Given the description of an element on the screen output the (x, y) to click on. 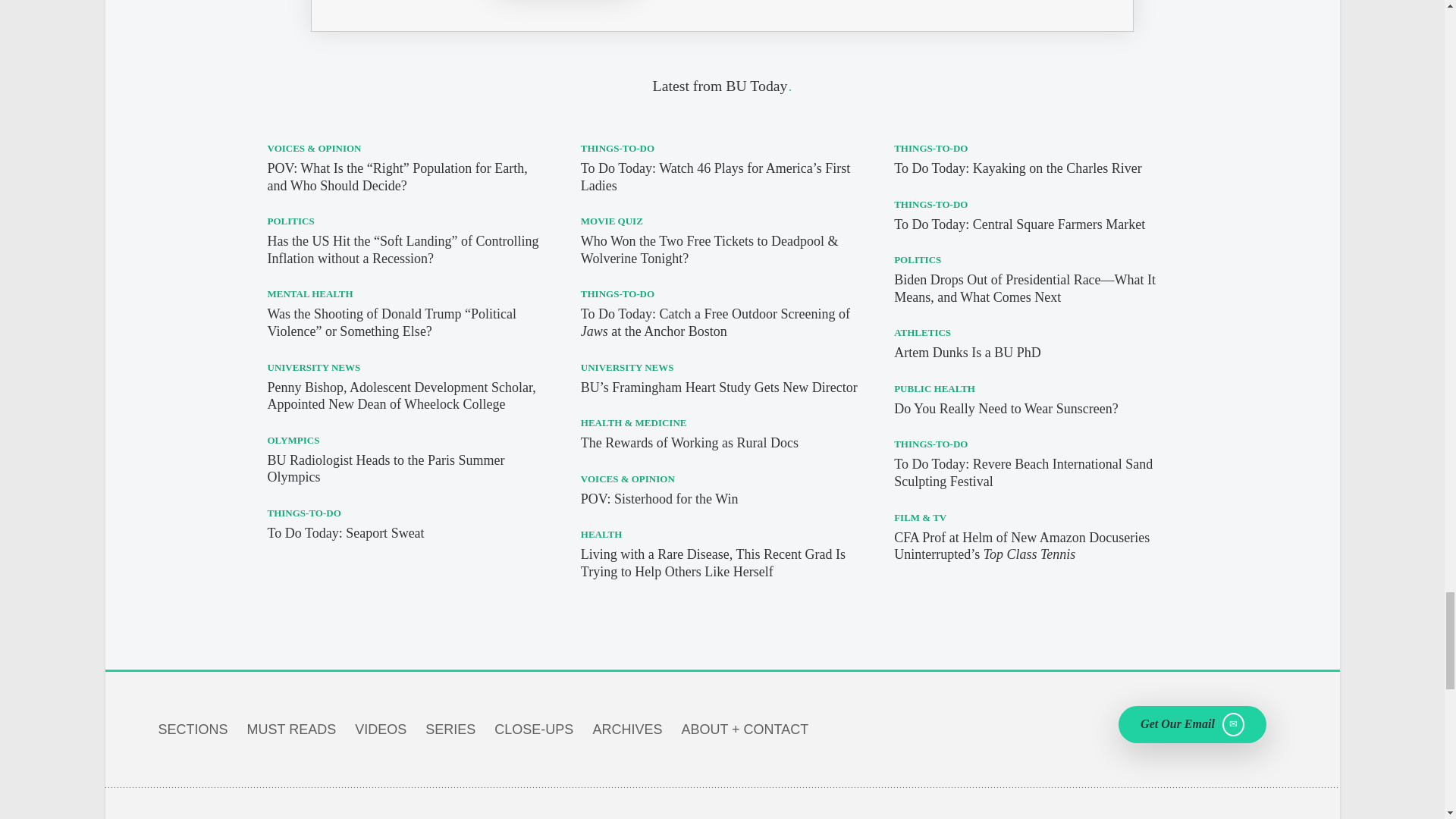
Navigate to: Sections (191, 729)
Navigate to: Videos (380, 729)
Navigate to: Archives (627, 729)
Navigate to: Close-ups (533, 729)
Navigate to: Must Reads (291, 729)
